Given the description of an element on the screen output the (x, y) to click on. 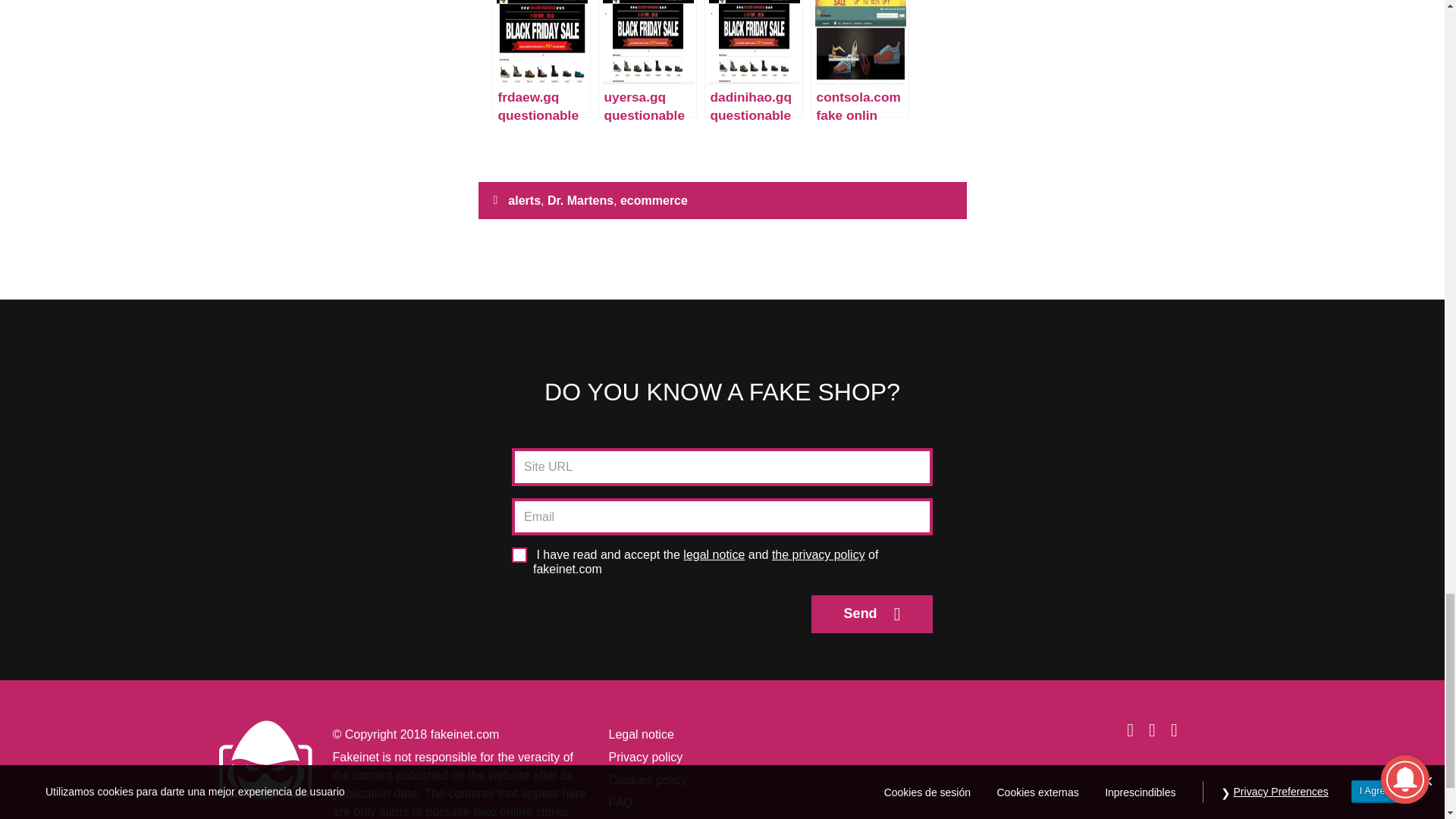
legal notice (713, 554)
Privacy policy (645, 757)
ecommerce (653, 201)
Legal notice (640, 734)
the privacy policy (817, 554)
Dr. Martens (579, 201)
FAQ (619, 802)
Cookies policy (646, 779)
Send (871, 614)
alerts (524, 201)
